Given the description of an element on the screen output the (x, y) to click on. 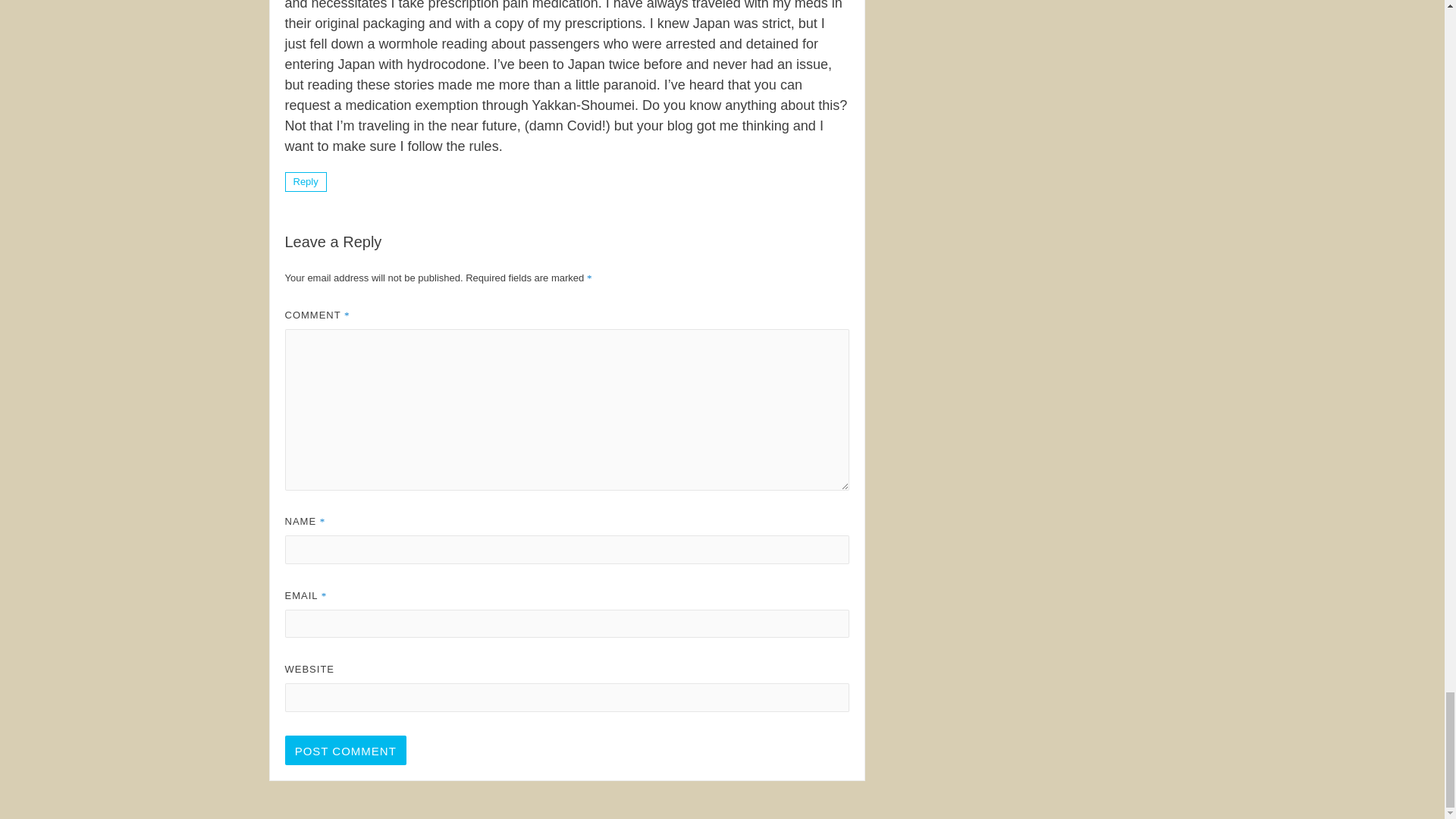
Post Comment (345, 749)
Reply (305, 181)
Post Comment (345, 749)
